Given the description of an element on the screen output the (x, y) to click on. 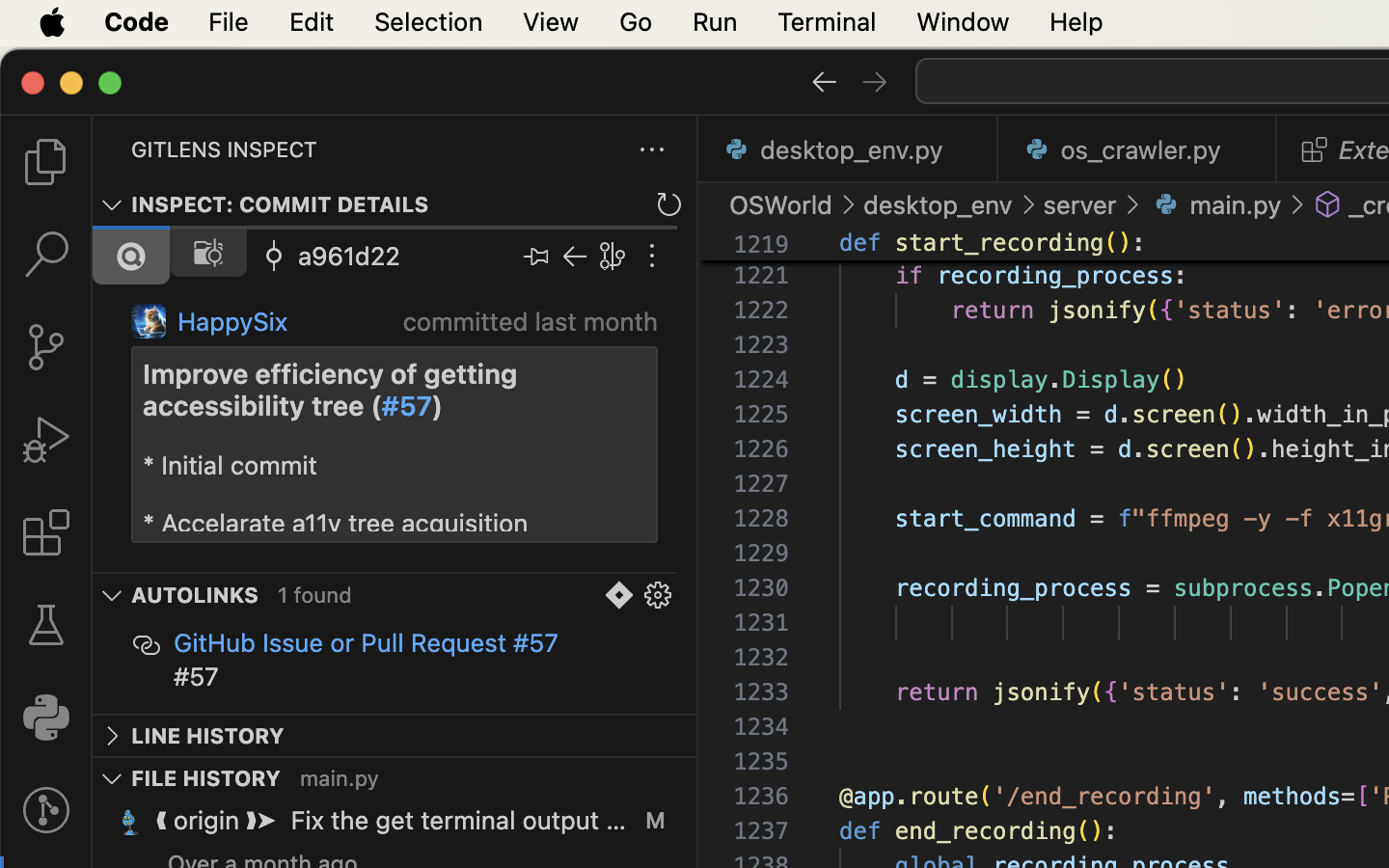
FILE HISTORY Element type: AXStaticText (206, 777)
start_recording Element type: AXStaticText (1000, 242)
* Initial commit

* Accelarate a11y tree acquisition

* Clean code

* Leave todos for Windows and macOS

* Prepare for support of win and macos

* Prepare for support of win and macos

* Minor fix

* add preliminary support for macos

* fix subtle bugs

* Clean the windows a11y tree getter code

* Clean the windows a11y tree getter code

* Intermediate version

* Intermediate version

* Update

* adding support for macos

* Delete dummy

* Delete dummy

* add bounding box for pruning

* Delete dummy

* FIX: enable a11y tree fetching on Windows

* Move the requirement depency item place

* FIX: remove "jsonify" from return value of get a11y tree

* FIX: change print into logger, decompose functions in _create_pywinauto_node

* Update

* remove redundant nodes on macos

* remove reliance of pywinauto

* Clean

* Fix bugs for pywinauto a11y_tree acquisition

* FEAT: only fetch active windows, skip repeated nodes

* CHORE: clean code, add comments on time-consuming part, add connection logger.info

* FEAT: 1. add attrs including class_name, id, count... 2. use multithread to accelerate

* FIX: add code of getting writable properties

* Clean, update the max_depth for macOS

* FIX: get all active windows

* Accelarate child nodes in macOS

* FEAT: get all active windows, add timing when testing

* CHORE: remove print

* Clean and finalize

* Clean and finalize

---------

Co-authored-by: Timothyxxx <384084775@qq.com>
Co-authored-by: Junli Wang Element type: AXStaticText (381, 491)
a961d22 Element type: AXStaticText (350, 255)
❰ origin ❱➤  Fix the get terminal output error caused by namespace parameter changes Element type: AXStaticText (391, 820)
